Given the description of an element on the screen output the (x, y) to click on. 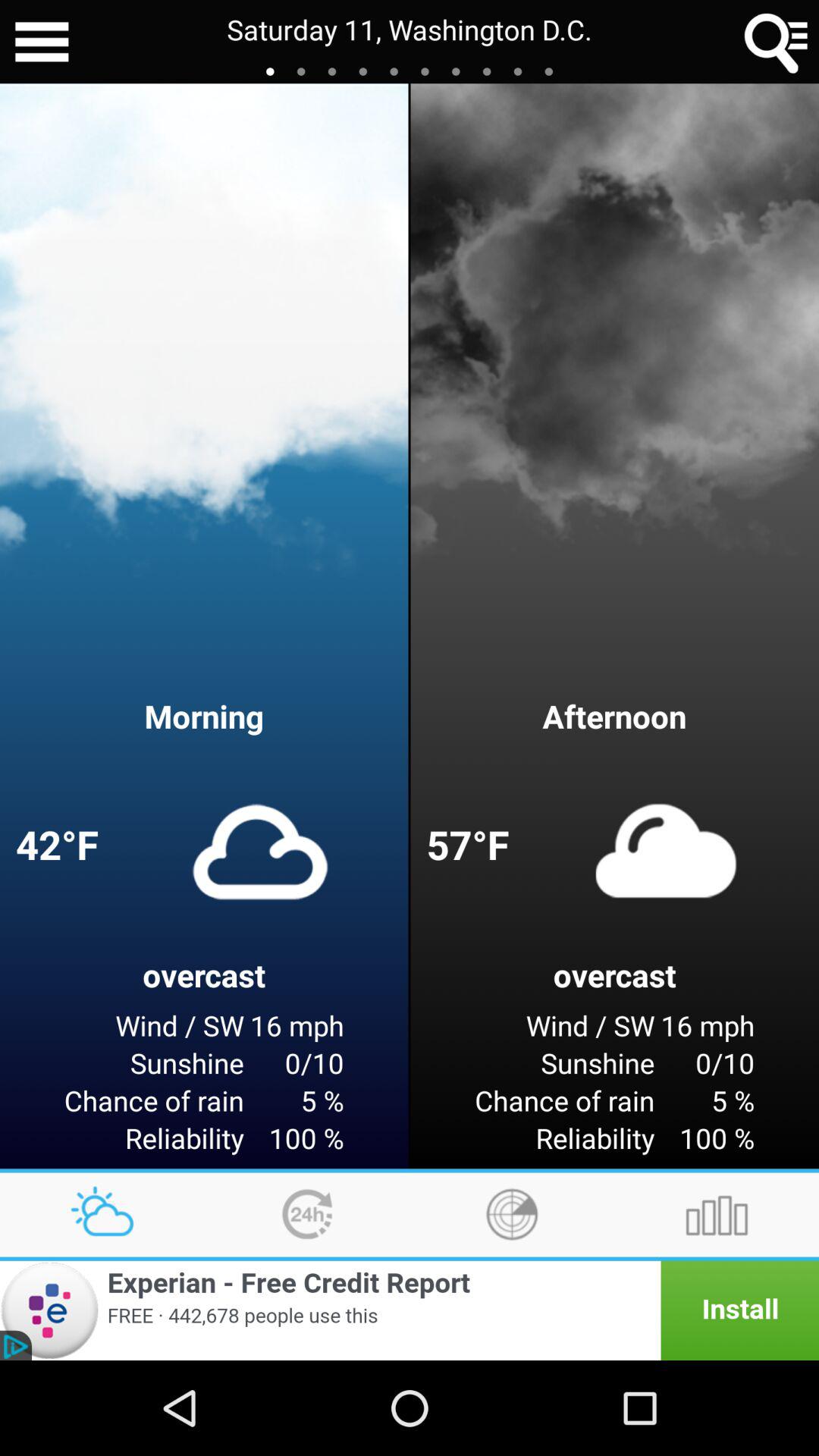
open the advertisement (409, 1310)
